Given the description of an element on the screen output the (x, y) to click on. 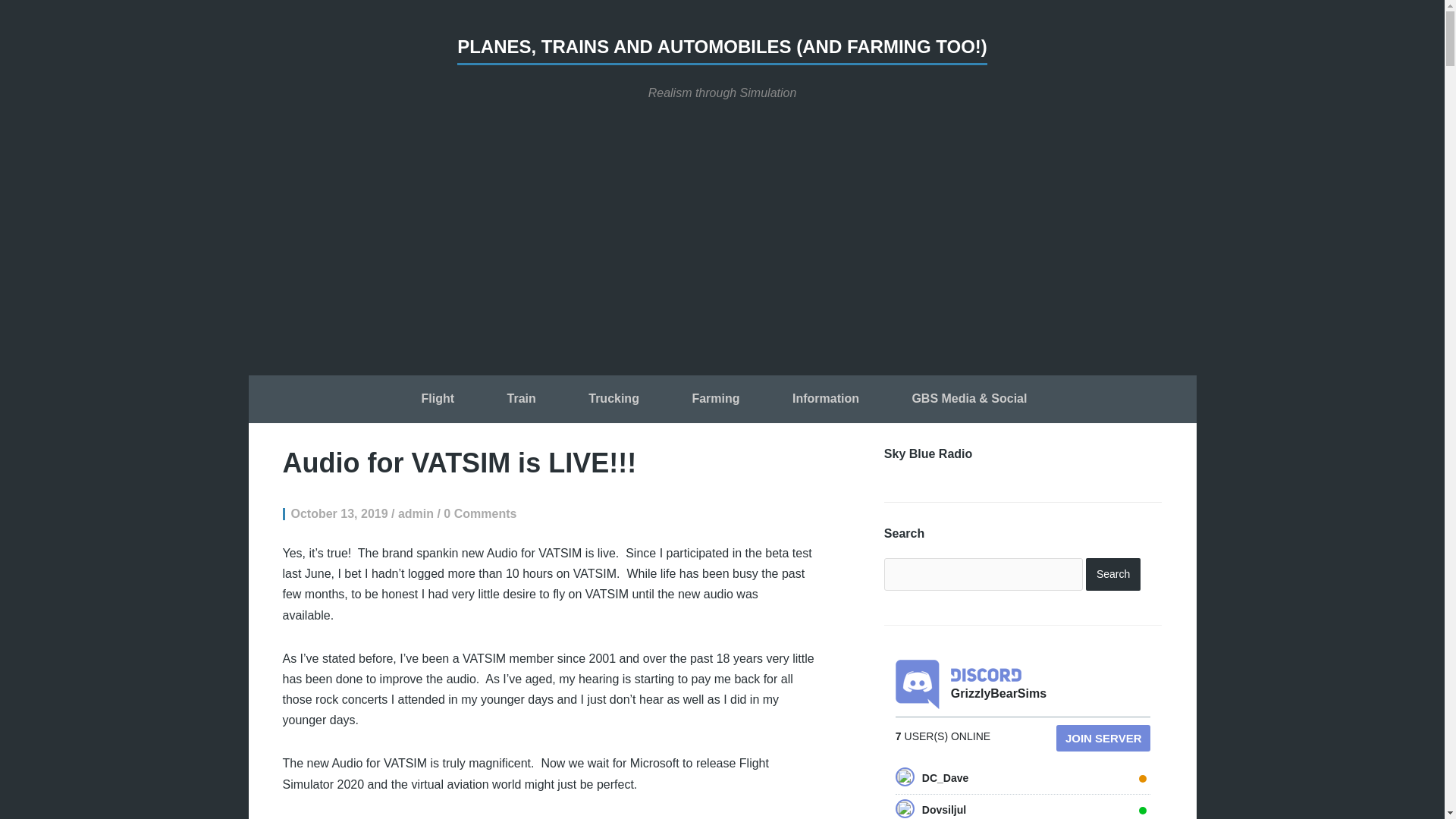
Search (1113, 573)
Audio for VATSIM is LIVE!!! (459, 462)
Farming (715, 400)
Information (825, 400)
Trucking (613, 400)
Train (521, 400)
Flight (437, 400)
Search (1113, 573)
